Given the description of an element on the screen output the (x, y) to click on. 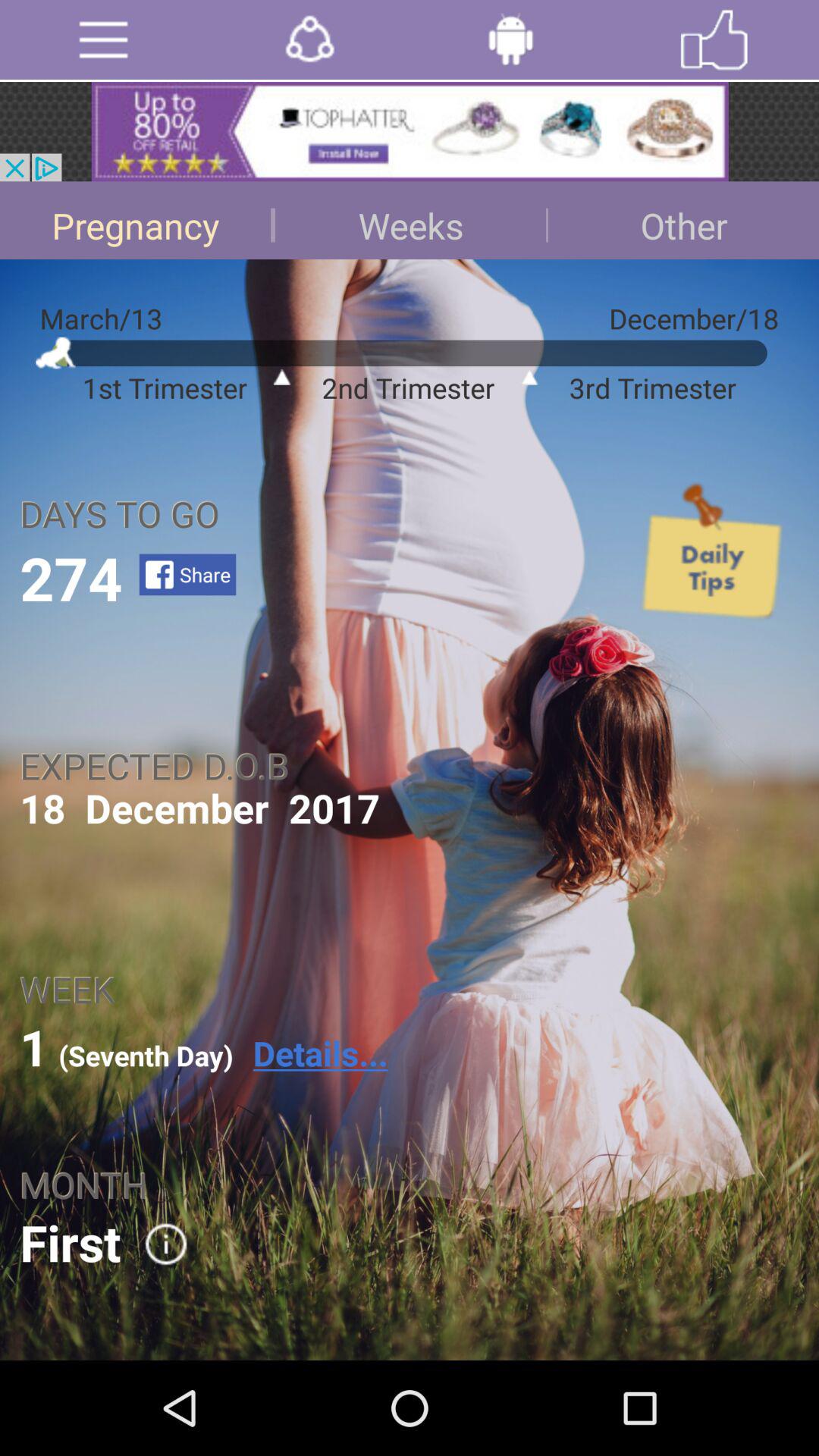
win option (714, 39)
